Given the description of an element on the screen output the (x, y) to click on. 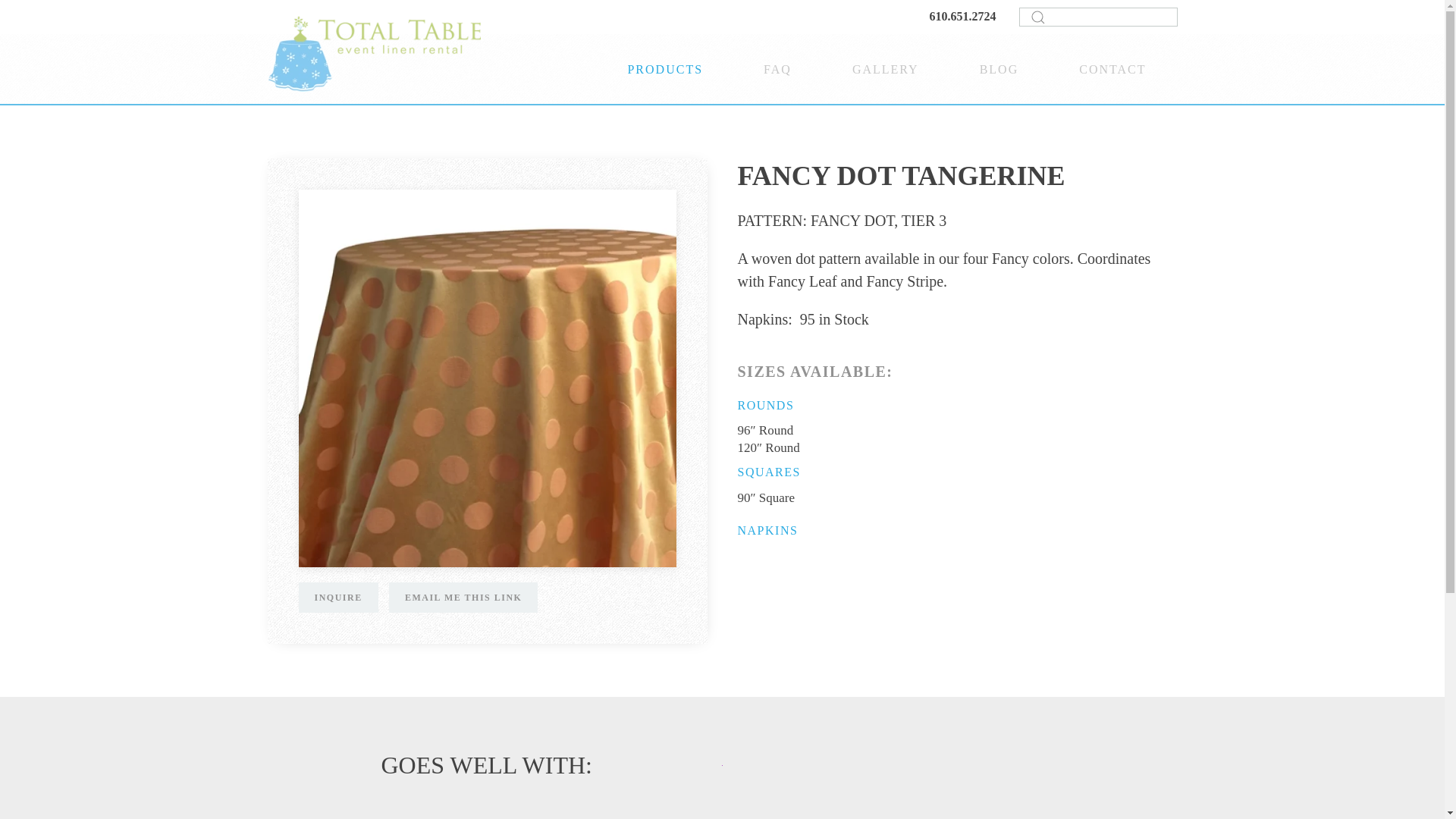
FAQ (777, 68)
INQUIRE (338, 597)
BLOG (999, 68)
GALLERY (885, 68)
CONTACT (1112, 68)
PRODUCTS (664, 68)
